Given the description of an element on the screen output the (x, y) to click on. 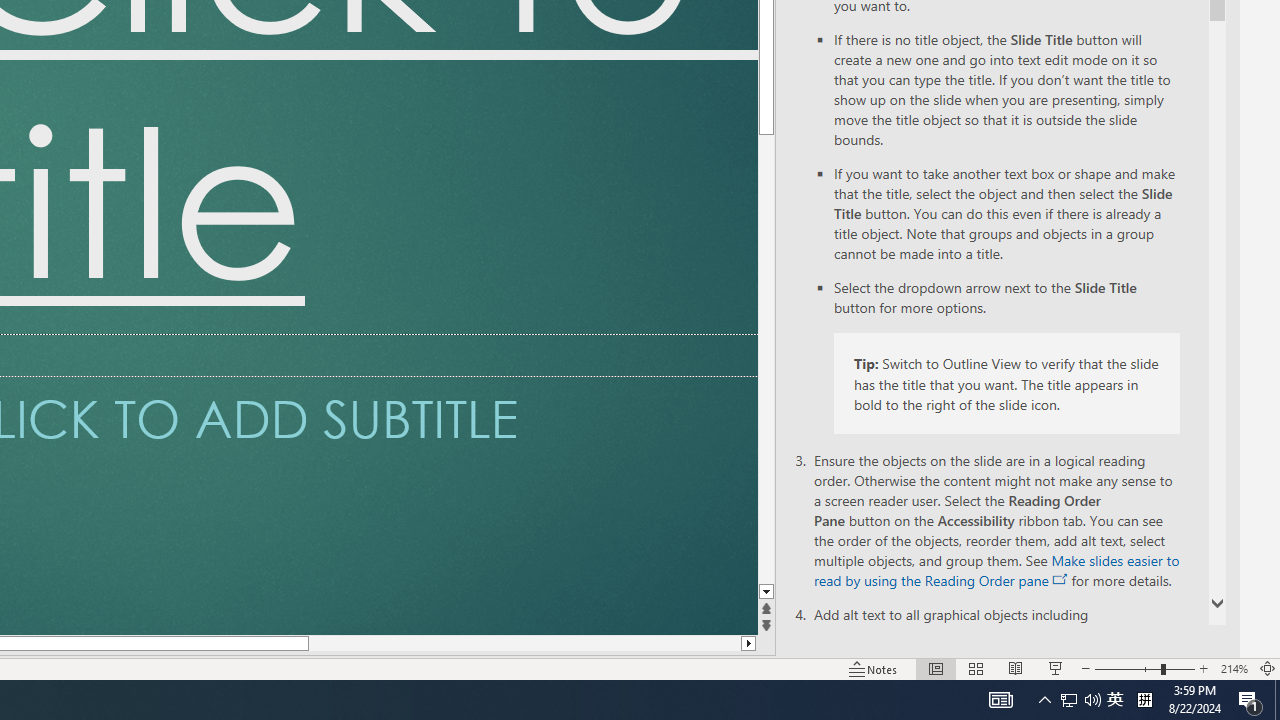
Zoom 214% (1234, 668)
